Given the description of an element on the screen output the (x, y) to click on. 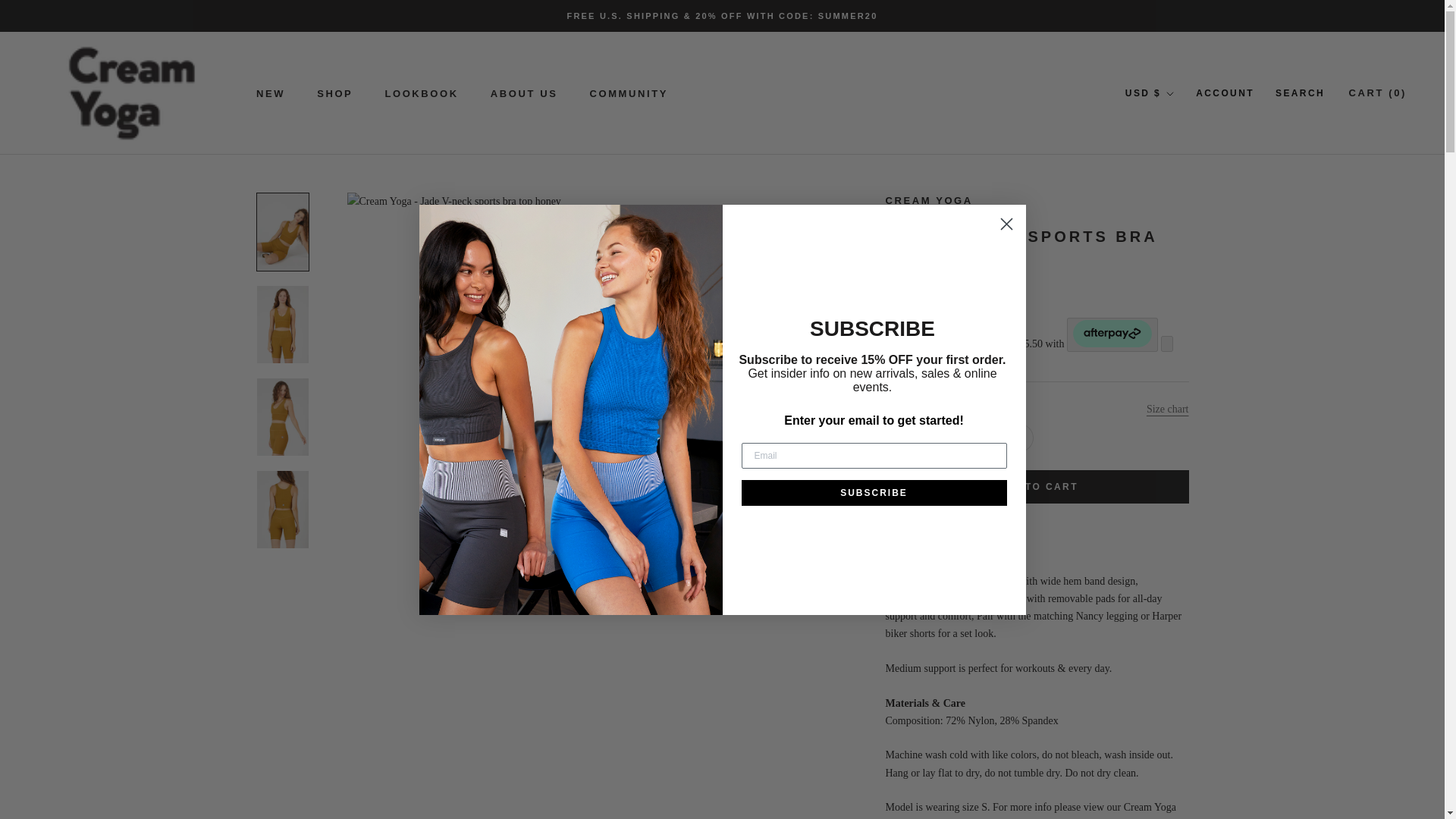
Page 1 (270, 93)
